Given the description of an element on the screen output the (x, y) to click on. 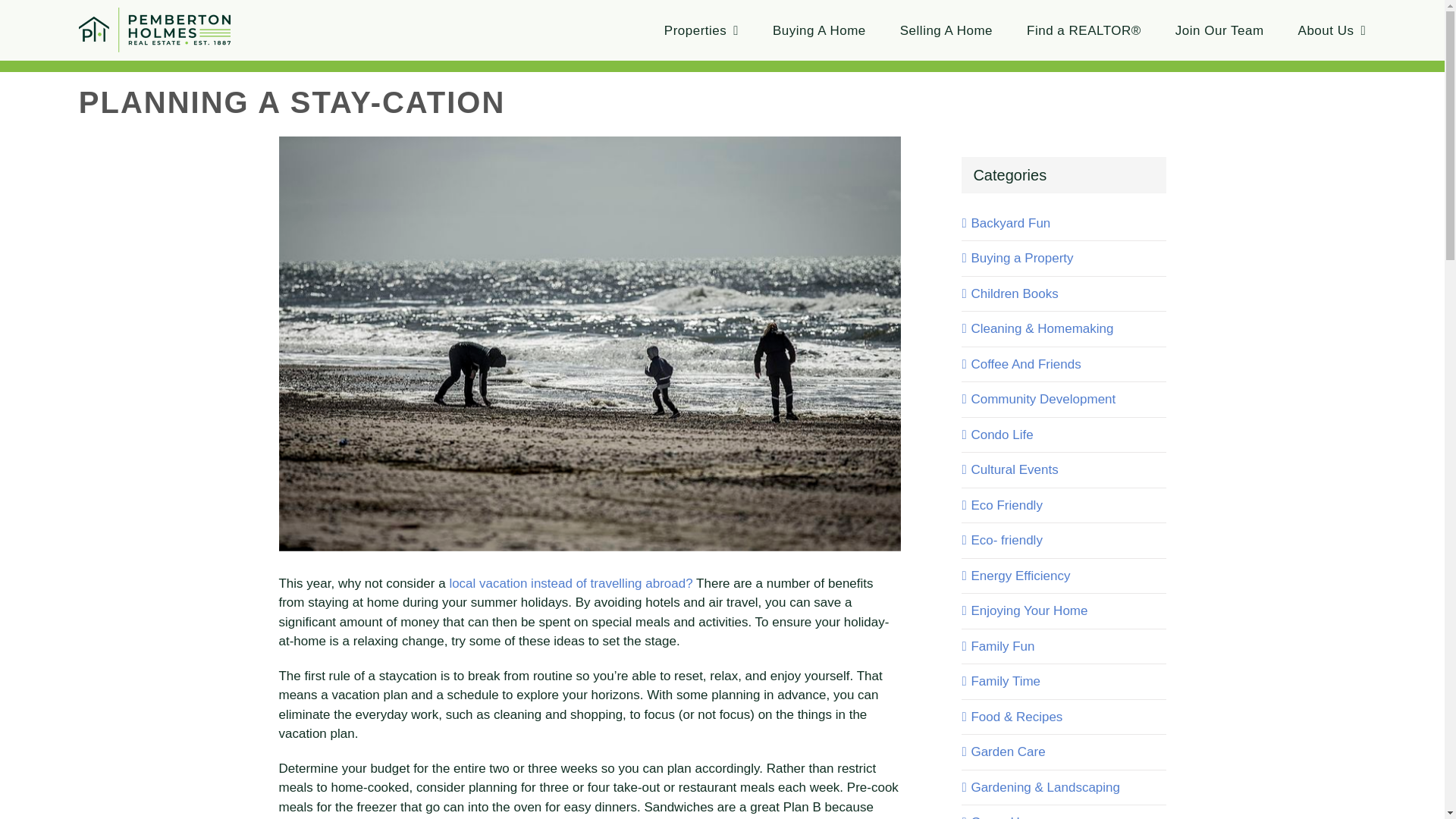
Join Our Team (1218, 30)
Buying A Home (819, 30)
Selling A Home (945, 30)
Properties (700, 30)
local vacation instead of travelling abroad? (570, 583)
About Us (1332, 30)
